Given the description of an element on the screen output the (x, y) to click on. 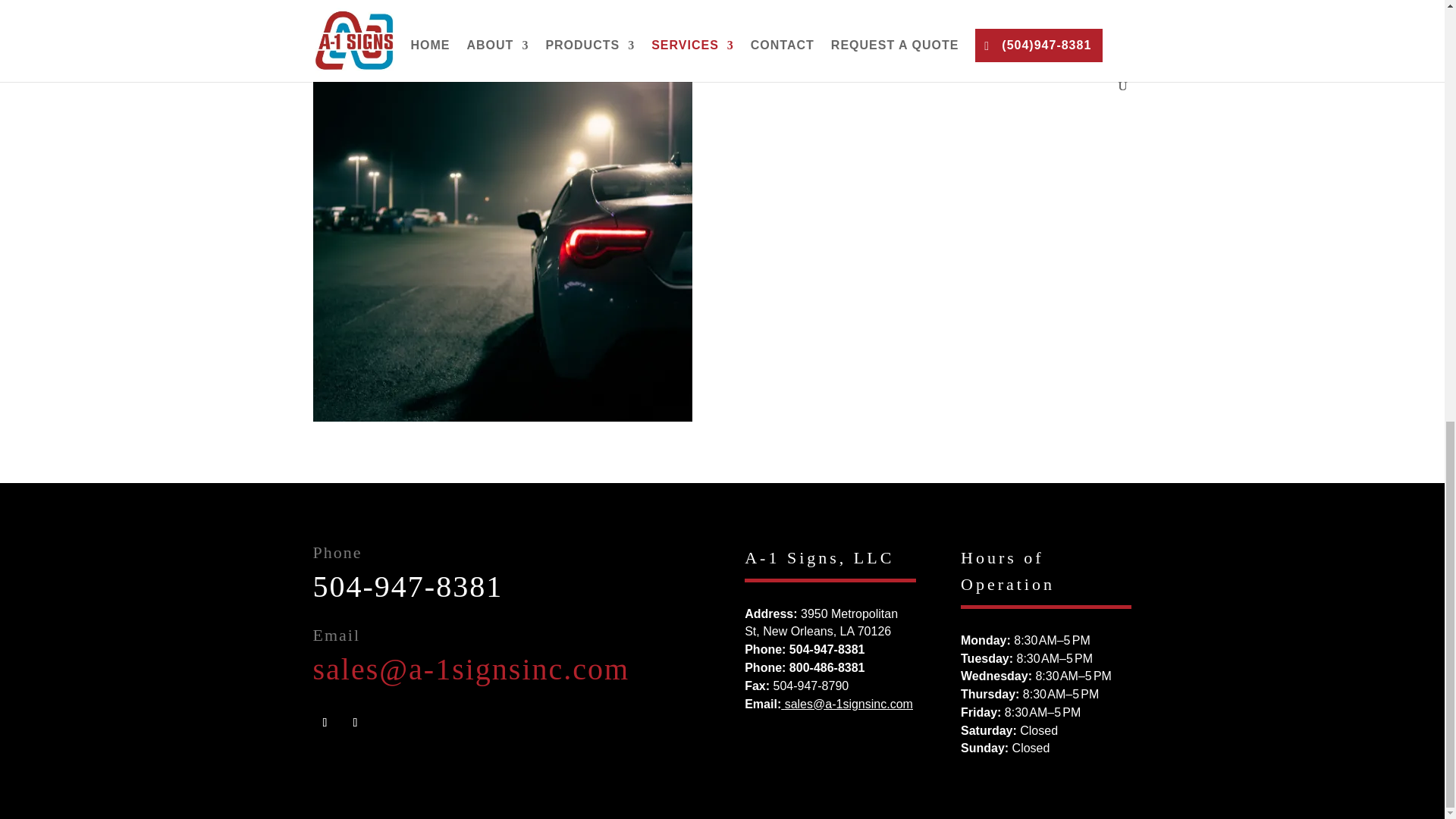
Follow on LinkedIn (354, 722)
Follow on Facebook (324, 722)
